Given the description of an element on the screen output the (x, y) to click on. 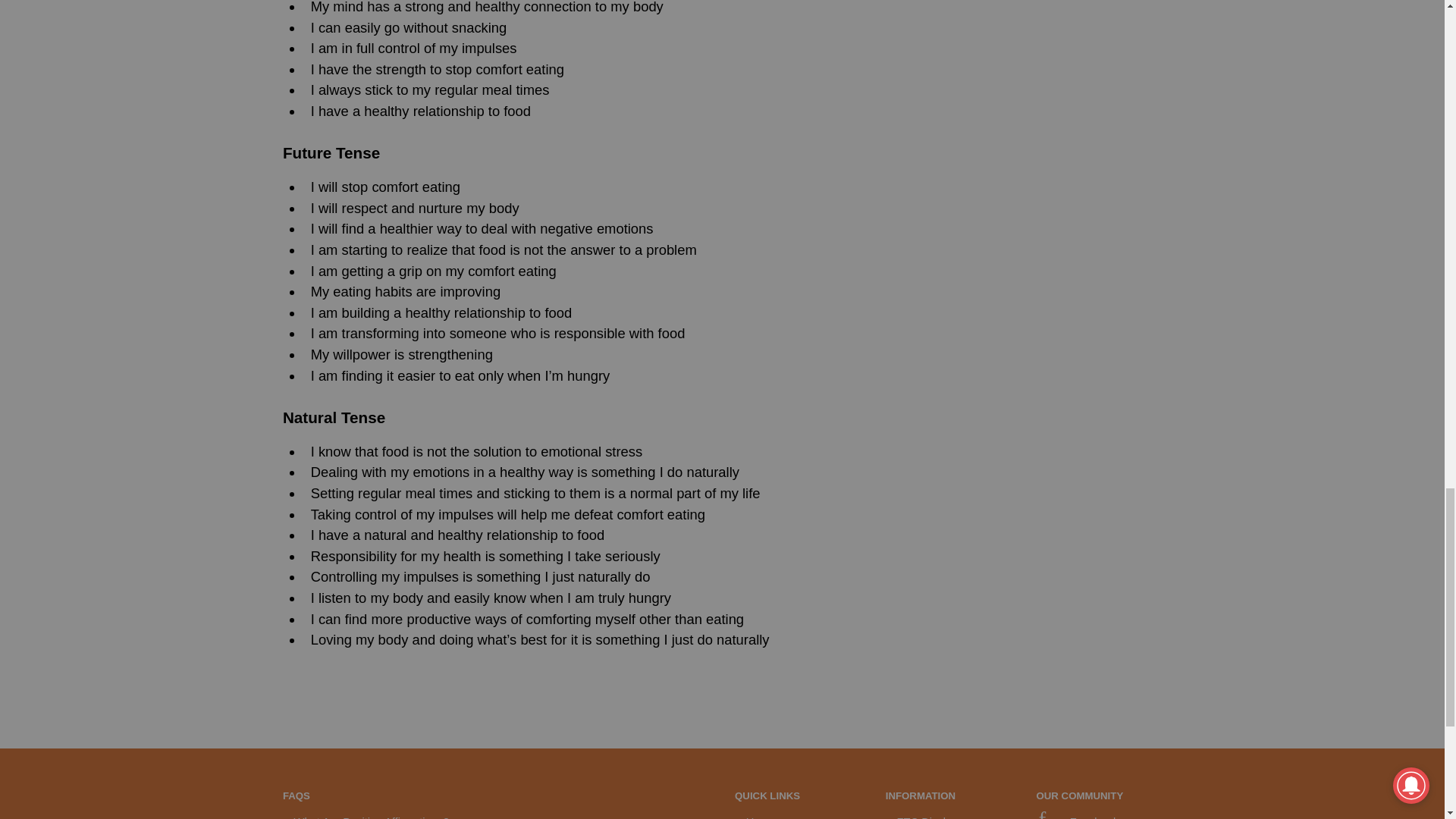
Facebook (1077, 817)
Home (760, 817)
FTC Disclosure (934, 817)
What Are Positive Affirmations? (371, 817)
